Given the description of an element on the screen output the (x, y) to click on. 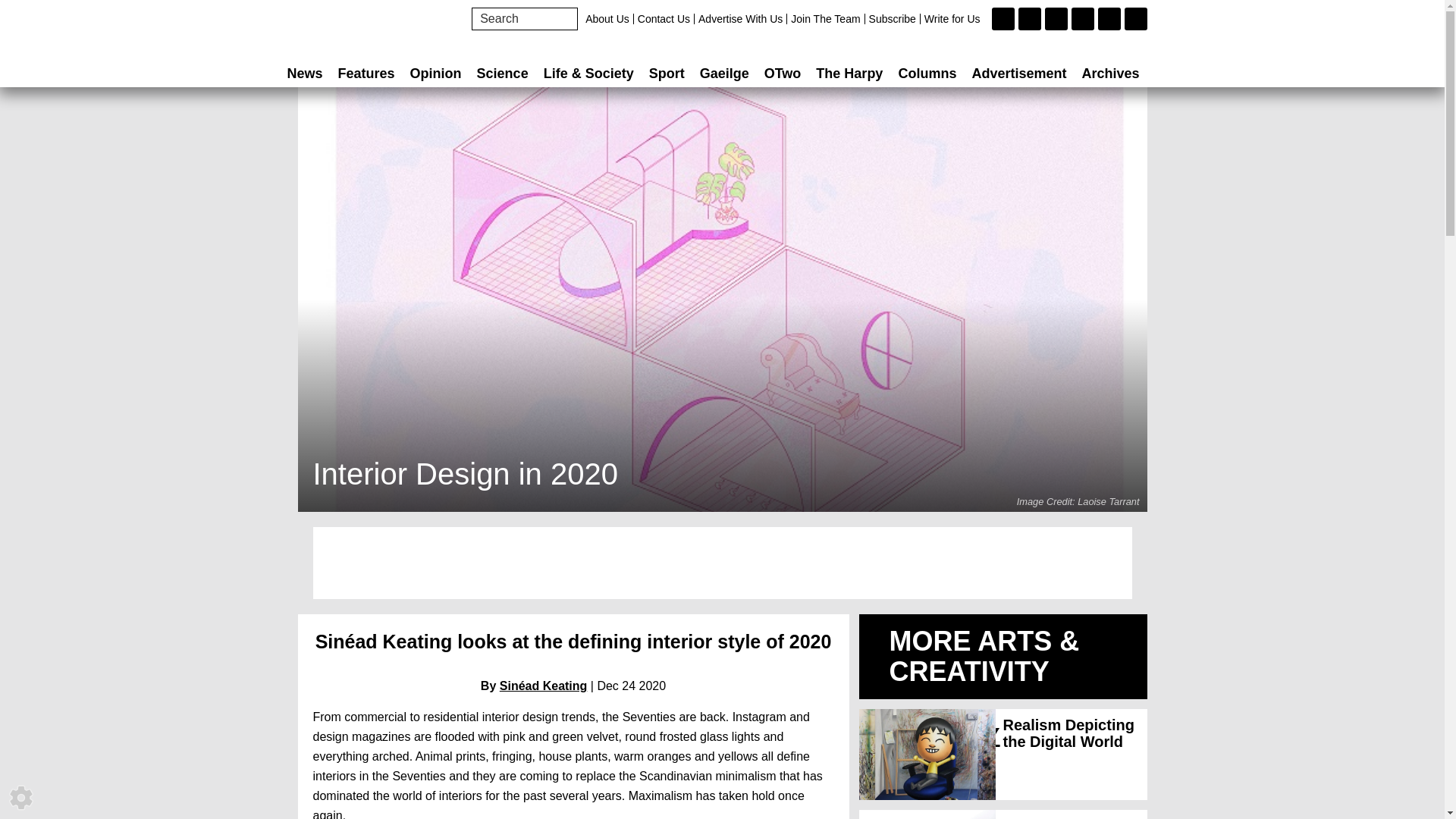
Features (366, 73)
Gaeilge (725, 73)
Advertisement (722, 562)
Advertisement (1018, 73)
Columns (926, 73)
Sport (667, 73)
Science (501, 73)
The Harpy (848, 73)
